Given the description of an element on the screen output the (x, y) to click on. 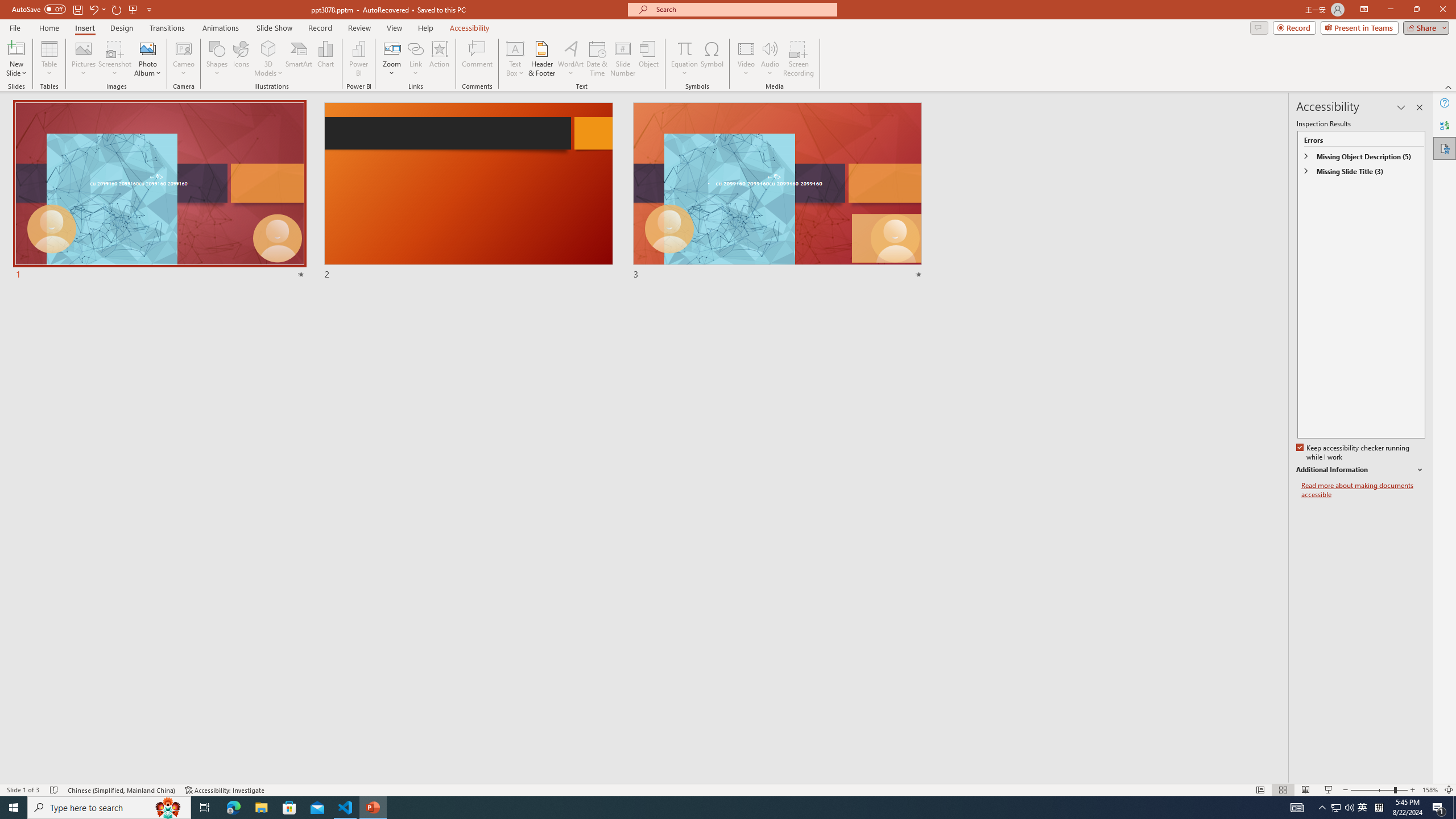
Power BI (358, 58)
Zoom 158% (1430, 790)
